Given the description of an element on the screen output the (x, y) to click on. 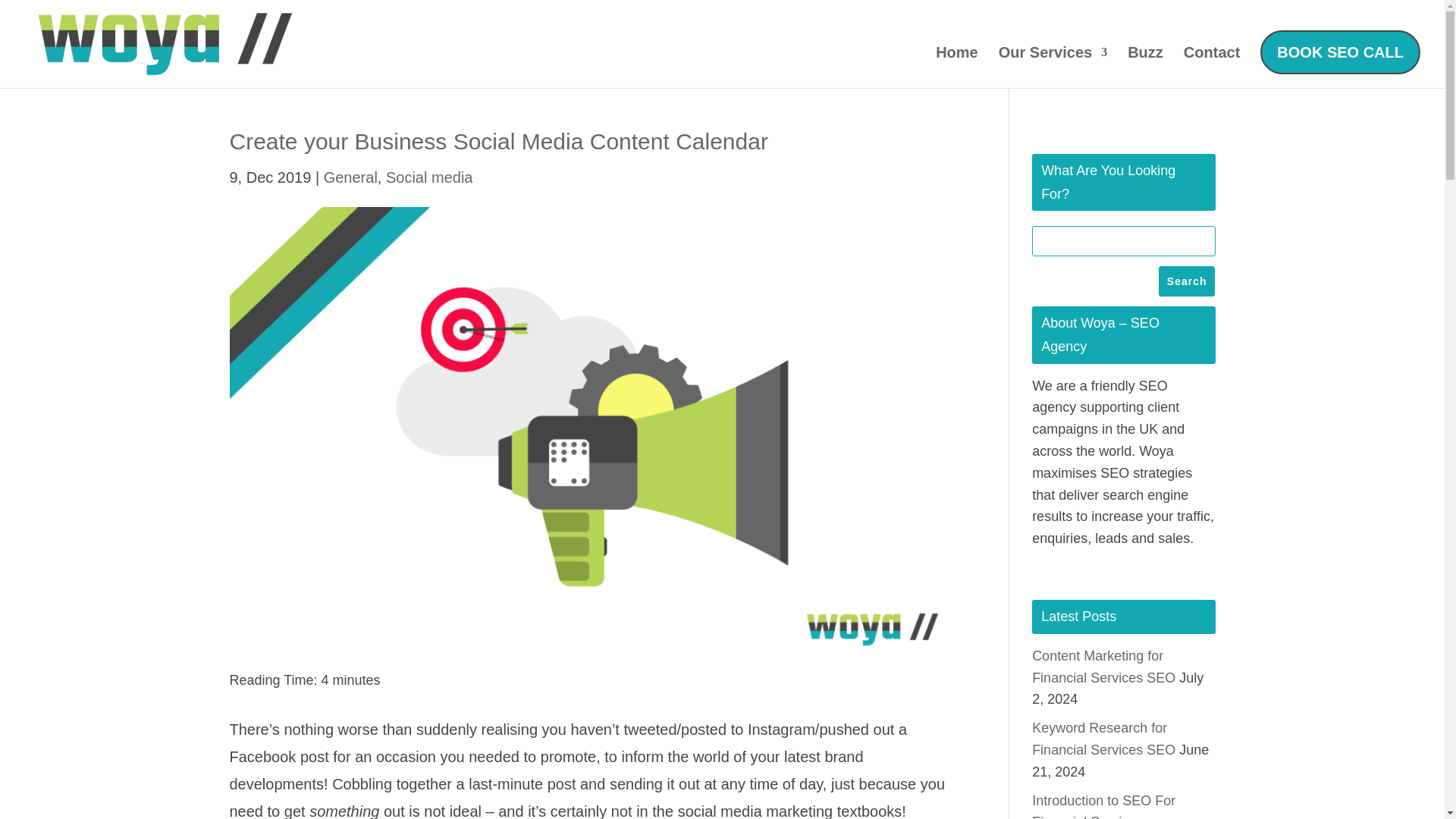
Keyword Research for Financial Services SEO (1103, 738)
BOOK SEO CALL (1340, 51)
Content Marketing for Financial Services SEO (1103, 666)
Contact (1211, 66)
General (350, 176)
Home (957, 66)
Our Services (1052, 66)
Search (1186, 281)
Search (1186, 281)
Social media (429, 176)
